Given the description of an element on the screen output the (x, y) to click on. 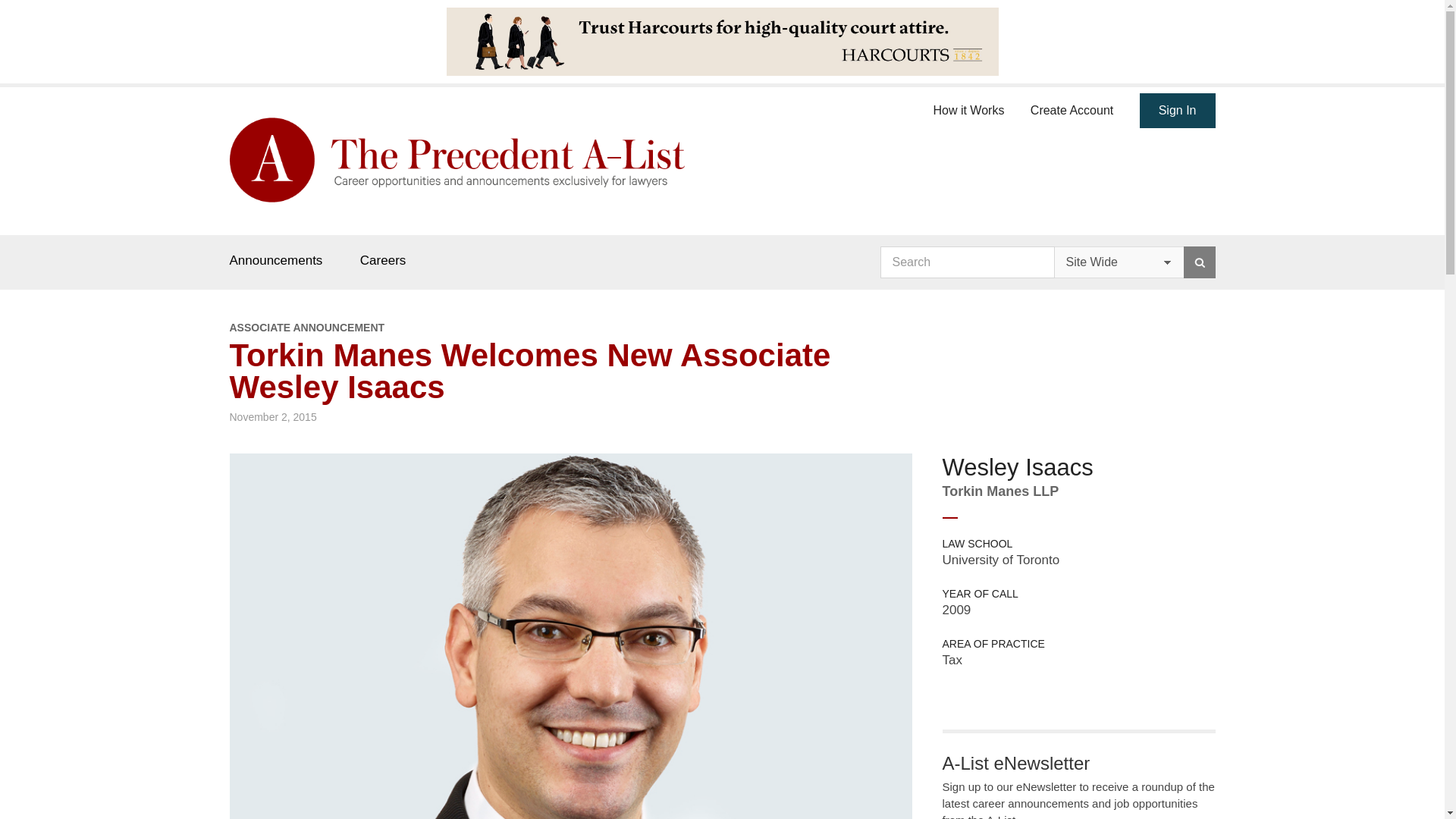
Create Account (1071, 107)
Announcements (274, 260)
Careers (382, 260)
Sign In (1177, 110)
ASSOCIATE ANNOUNCEMENT (569, 327)
How it Works (968, 107)
